Given the description of an element on the screen output the (x, y) to click on. 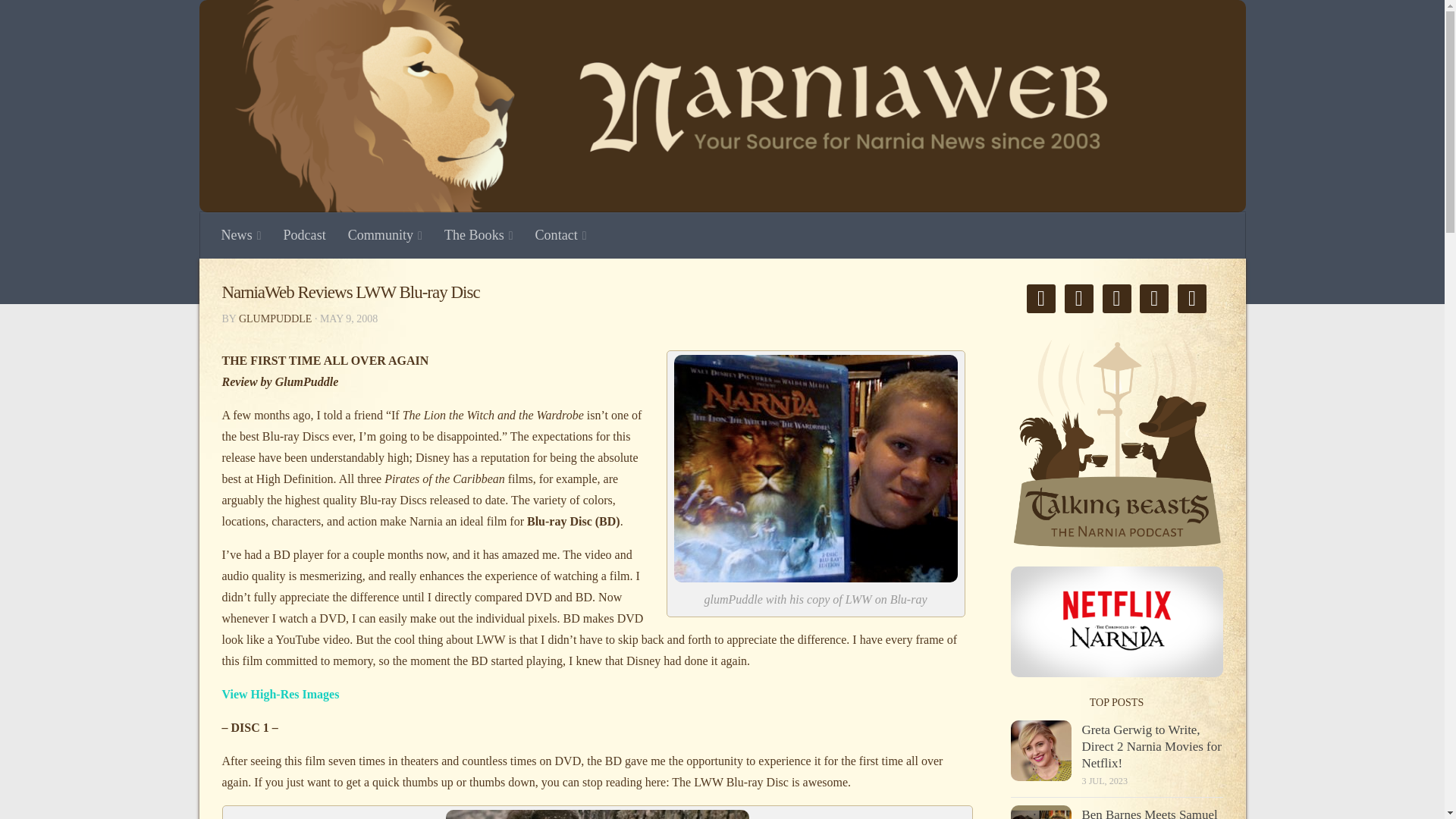
Default Label (1154, 297)
News (242, 235)
The Books (478, 235)
glumPuddle with his copy of LWW on Blu-ray (814, 468)
Tumnus hides from Lucy (597, 814)
View High-Res Images (280, 694)
Contact (561, 235)
Default Label (1078, 297)
Podcast (304, 235)
Posts by Glumpuddle (274, 318)
Instagram (1192, 297)
GLUMPUDDLE (274, 318)
Twitter (1116, 297)
Facebook (1040, 297)
